Given the description of an element on the screen output the (x, y) to click on. 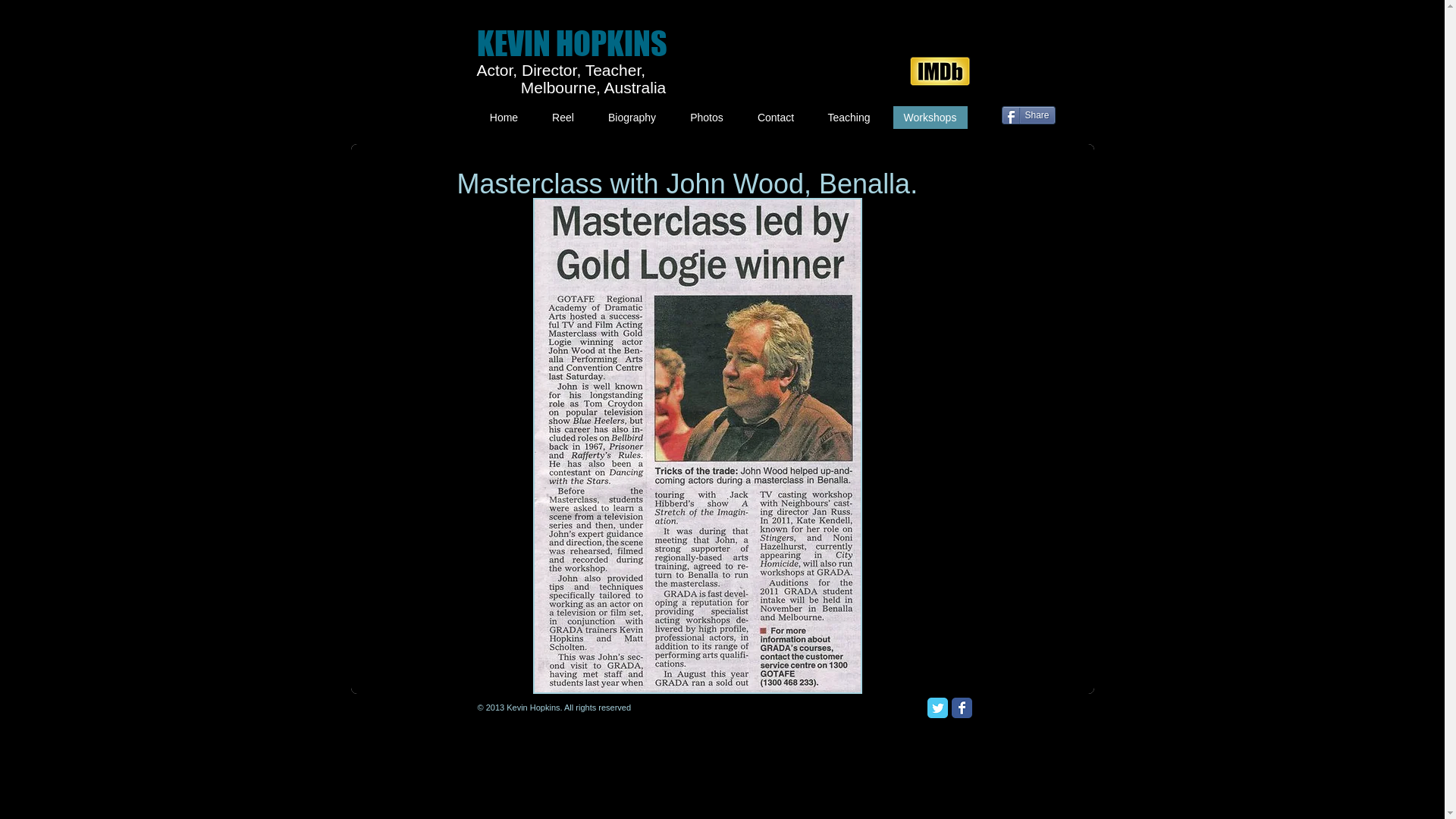
Photos Element type: text (706, 117)
Contact Element type: text (775, 117)
Share Element type: text (1027, 115)
Biography Element type: text (632, 117)
Home Element type: text (504, 117)
Teaching Element type: text (849, 117)
Reel Element type: text (563, 117)
Workshops Element type: text (930, 117)
